Given the description of an element on the screen output the (x, y) to click on. 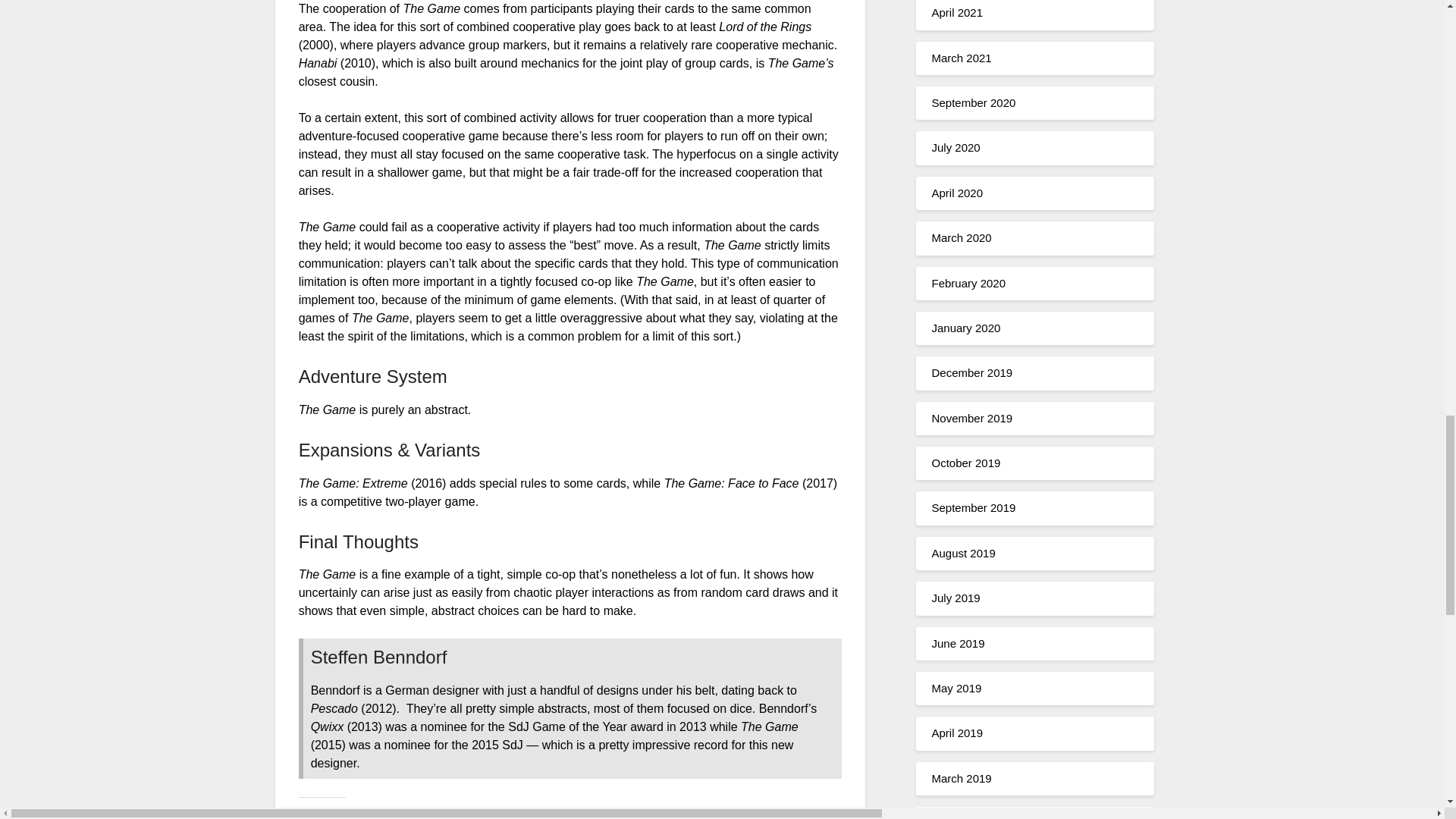
April 2021 (956, 11)
September 2020 (972, 102)
March 2021 (961, 57)
